Given the description of an element on the screen output the (x, y) to click on. 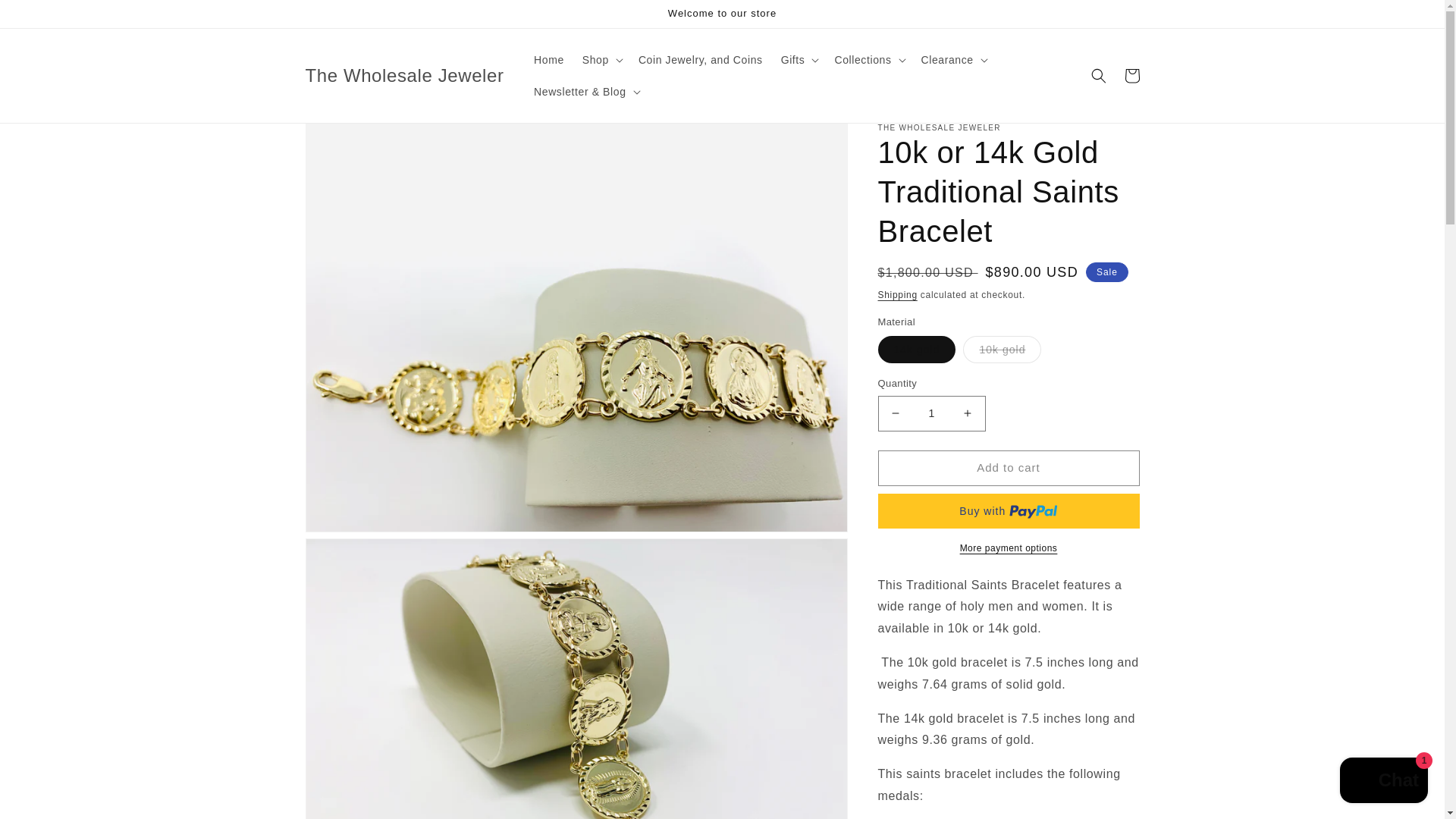
1 (931, 413)
Shopify online store chat (1383, 781)
Skip to content (45, 17)
